Given the description of an element on the screen output the (x, y) to click on. 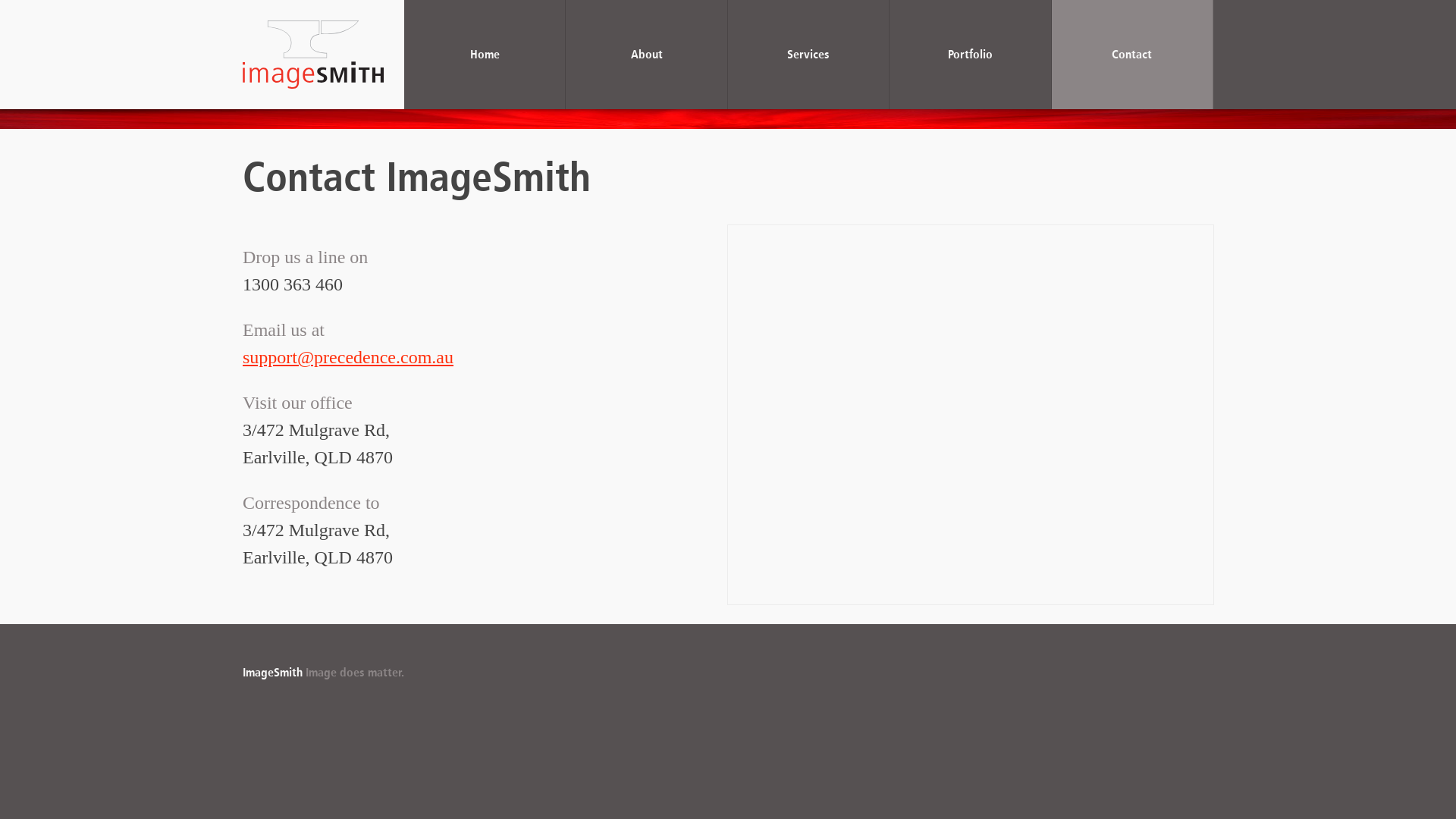
About Element type: text (646, 54)
Services Element type: text (808, 54)
Contact Element type: text (1132, 54)
Portfolio Element type: text (970, 54)
Home Element type: text (484, 54)
support@precedence.com.au Element type: text (347, 357)
